Given the description of an element on the screen output the (x, y) to click on. 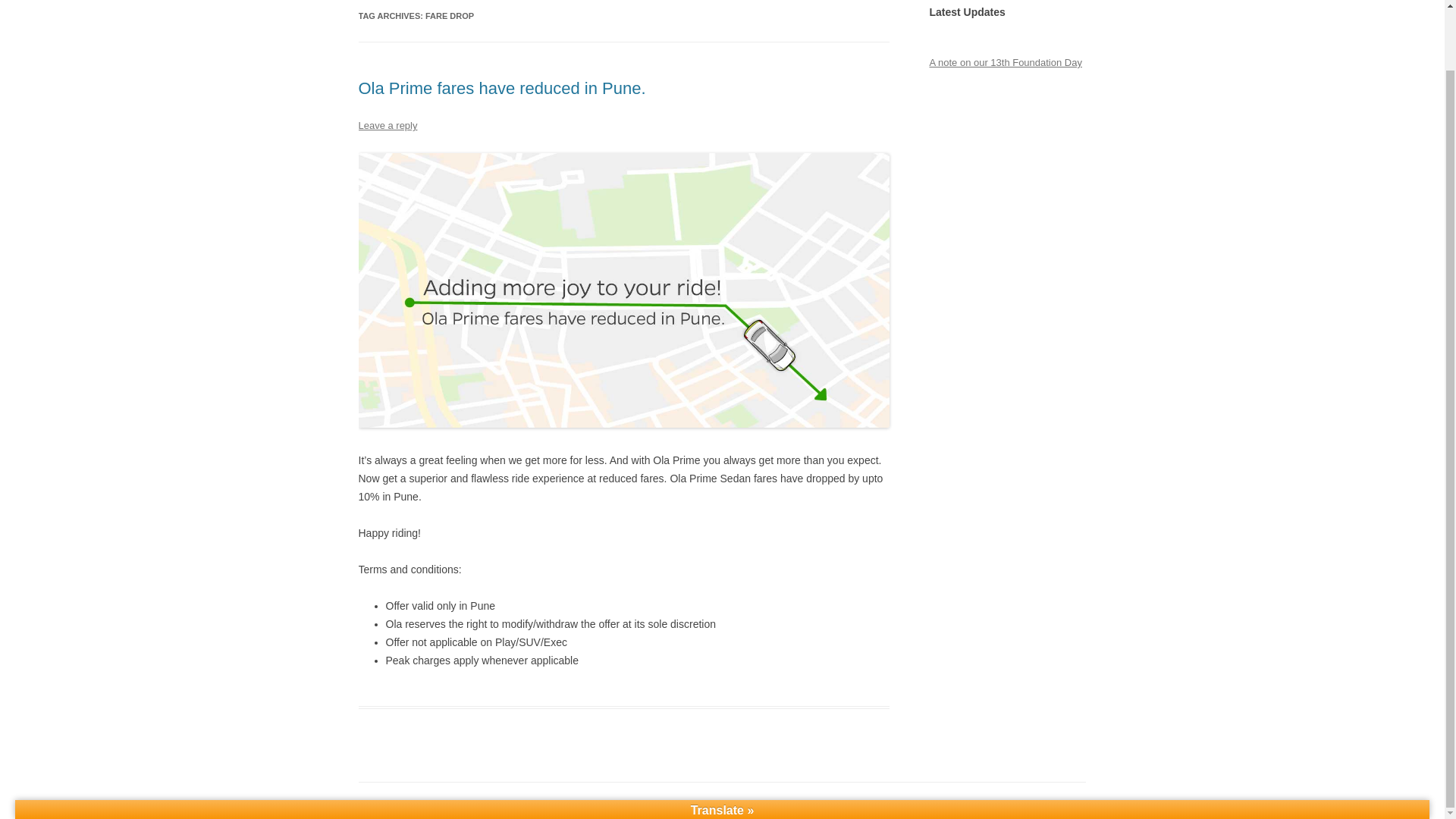
Leave a reply (387, 125)
A note on our 13th Foundation Day (1004, 61)
Ola Prime fares have reduced in Pune. (501, 87)
